Given the description of an element on the screen output the (x, y) to click on. 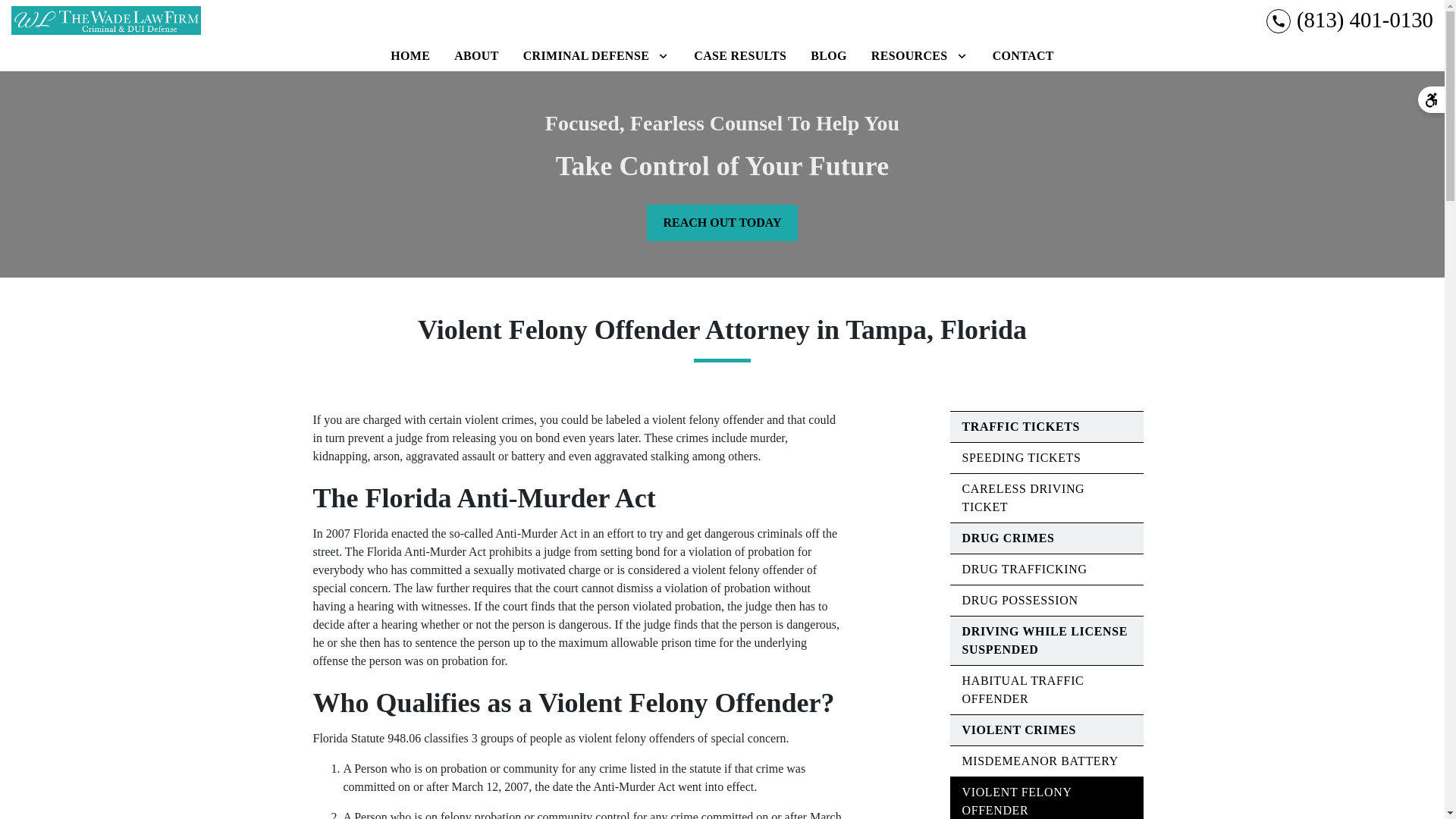
CRIMINAL DEFENSE (585, 55)
HOME (409, 55)
ABOUT (476, 55)
